Given the description of an element on the screen output the (x, y) to click on. 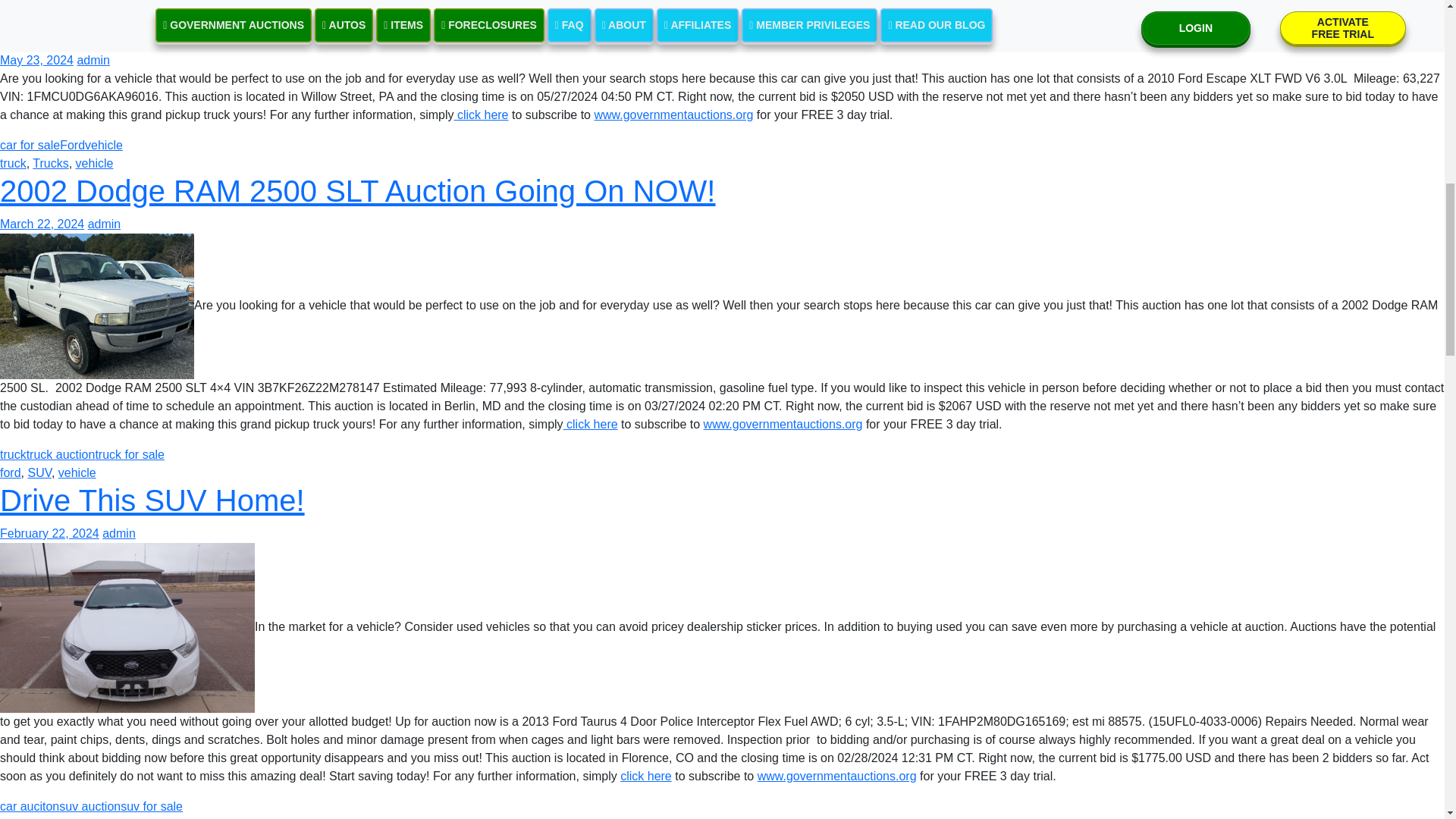
View all posts in vehicle (94, 163)
View all posts in car auction (52, 2)
View all posts in car (8, 2)
View all posts in truck (13, 163)
View all posts in SUV (38, 472)
View all posts in Trucks (50, 163)
View all posts in vehicle (107, 2)
View all posts in ford (10, 472)
View all posts in vehicle (77, 472)
